Given the description of an element on the screen output the (x, y) to click on. 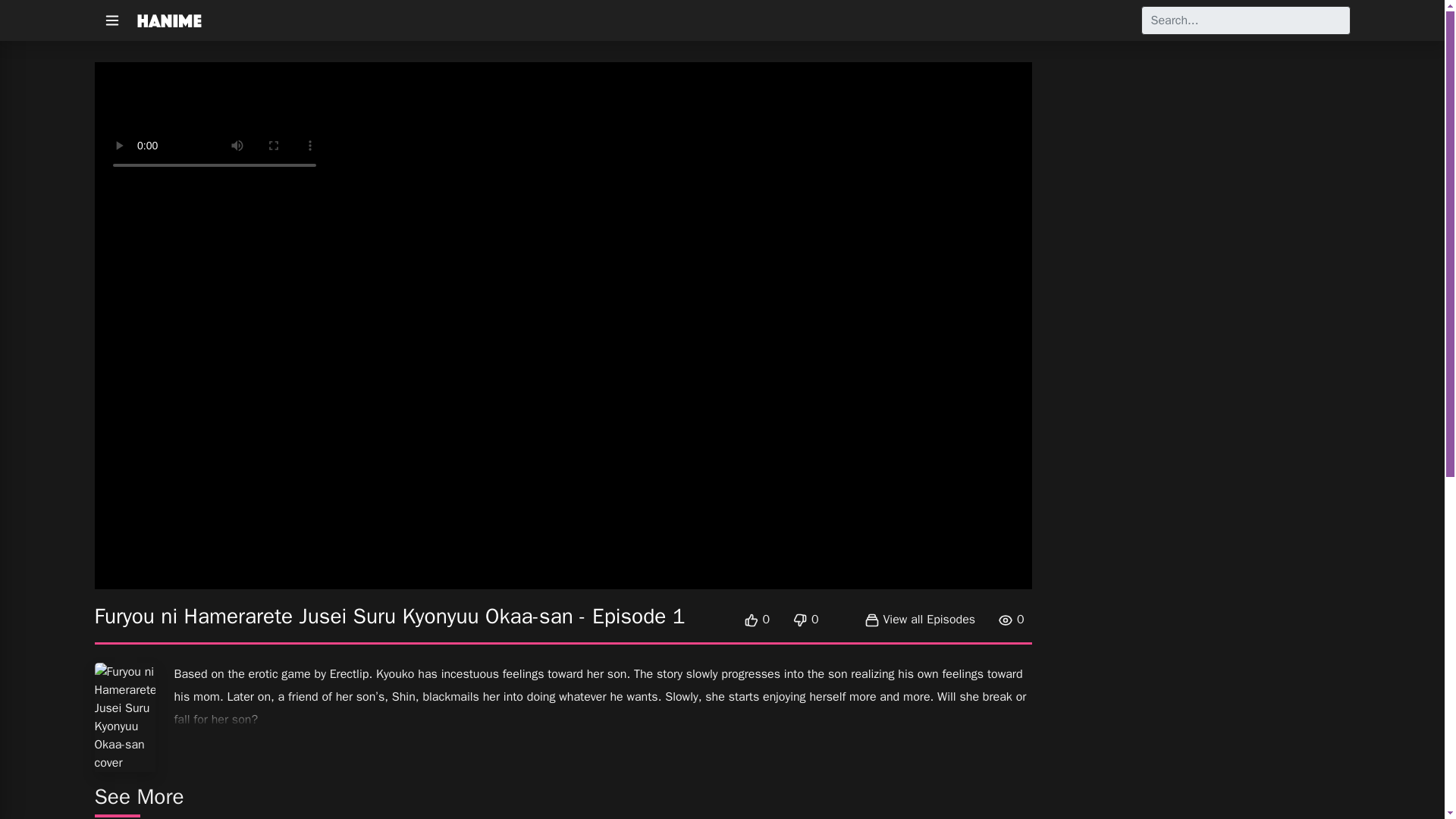
0 (756, 619)
View all Episodes (920, 619)
0 (804, 619)
